Given the description of an element on the screen output the (x, y) to click on. 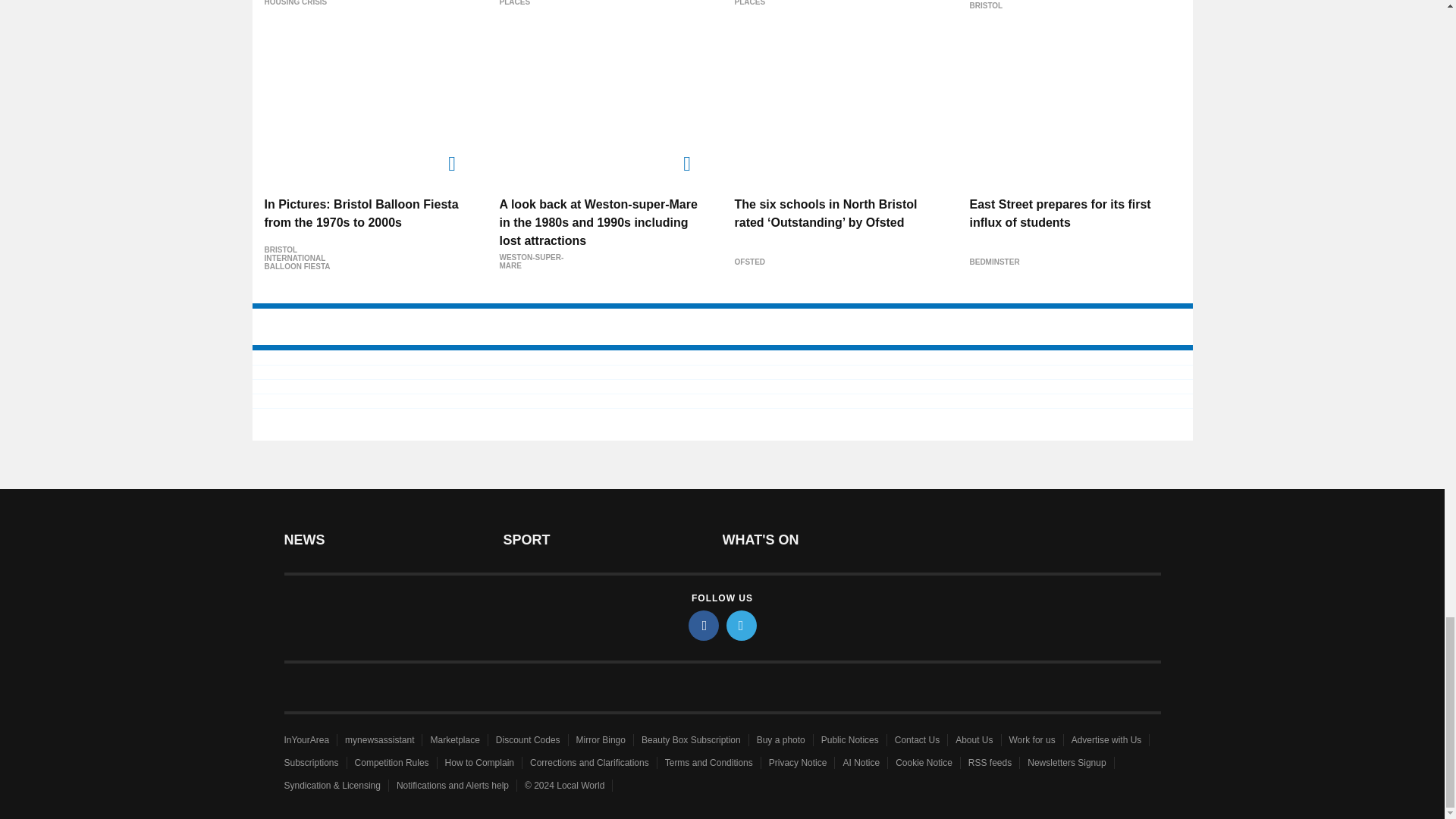
twitter (741, 625)
facebook (703, 625)
